Given the description of an element on the screen output the (x, y) to click on. 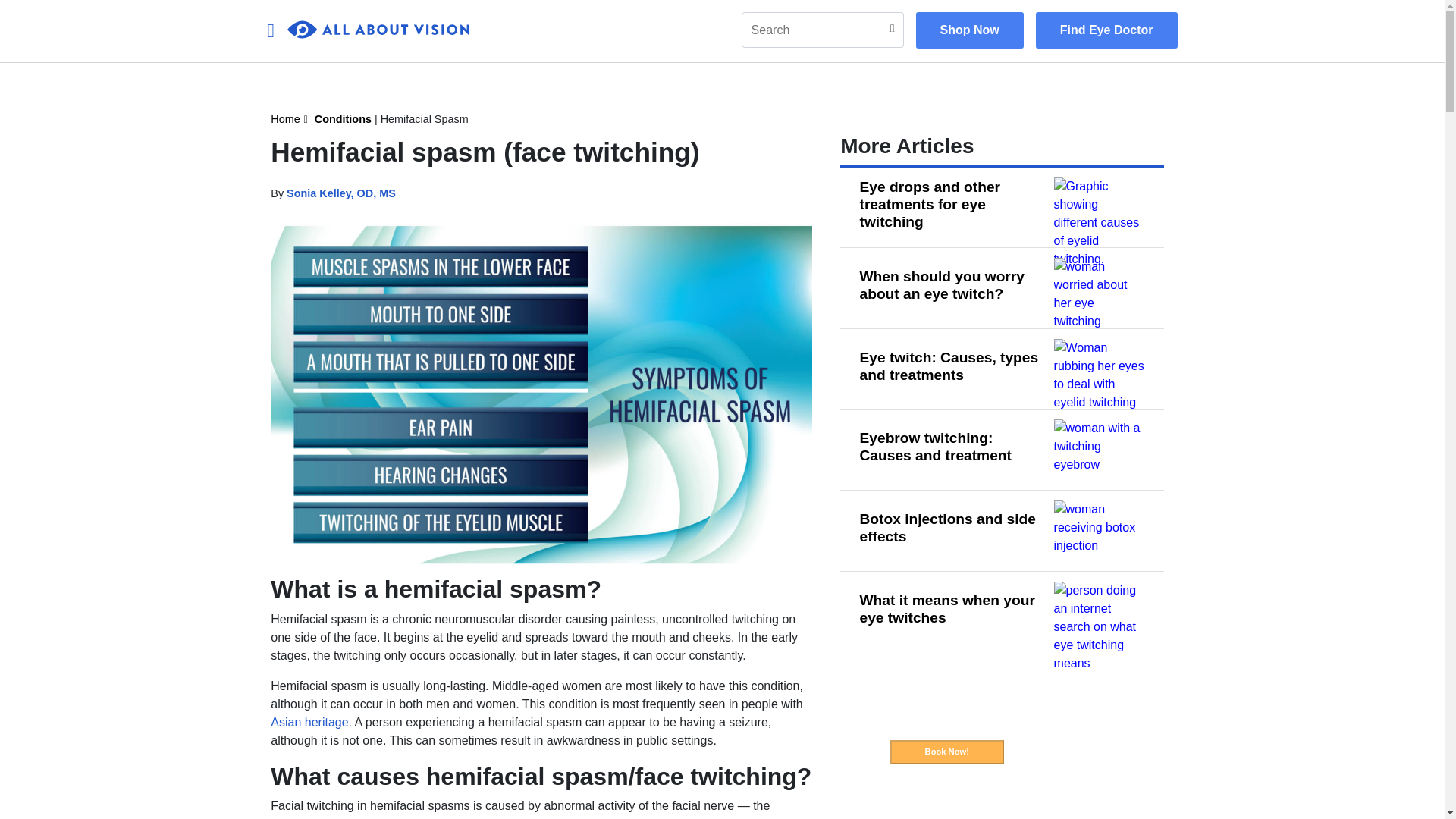
Asian heritage (308, 721)
0 (377, 29)
Shop Now (969, 30)
Find Eye Doctor (1106, 30)
0 (377, 30)
